Given the description of an element on the screen output the (x, y) to click on. 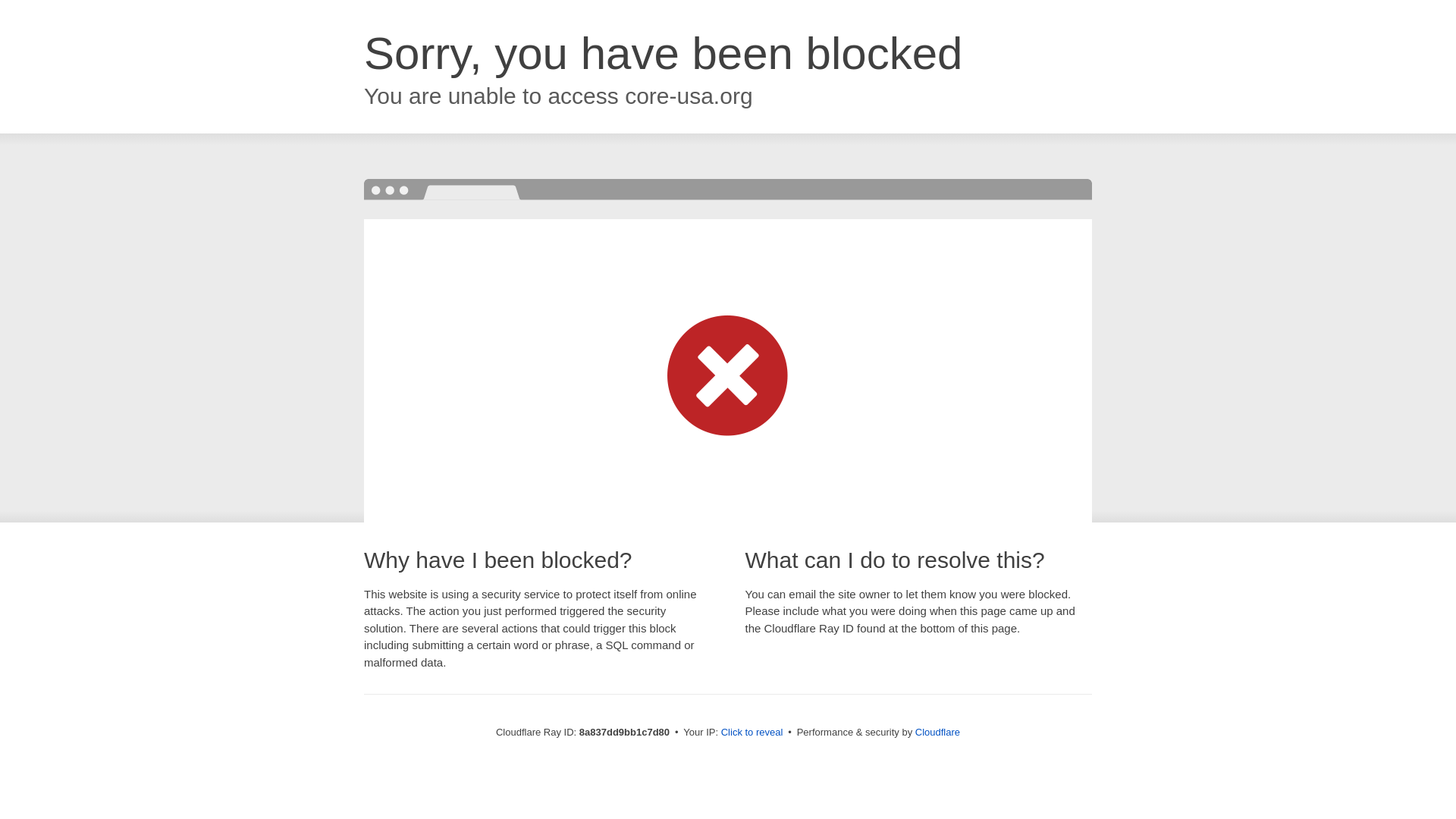
Cloudflare (937, 731)
Click to reveal (751, 732)
